Given the description of an element on the screen output the (x, y) to click on. 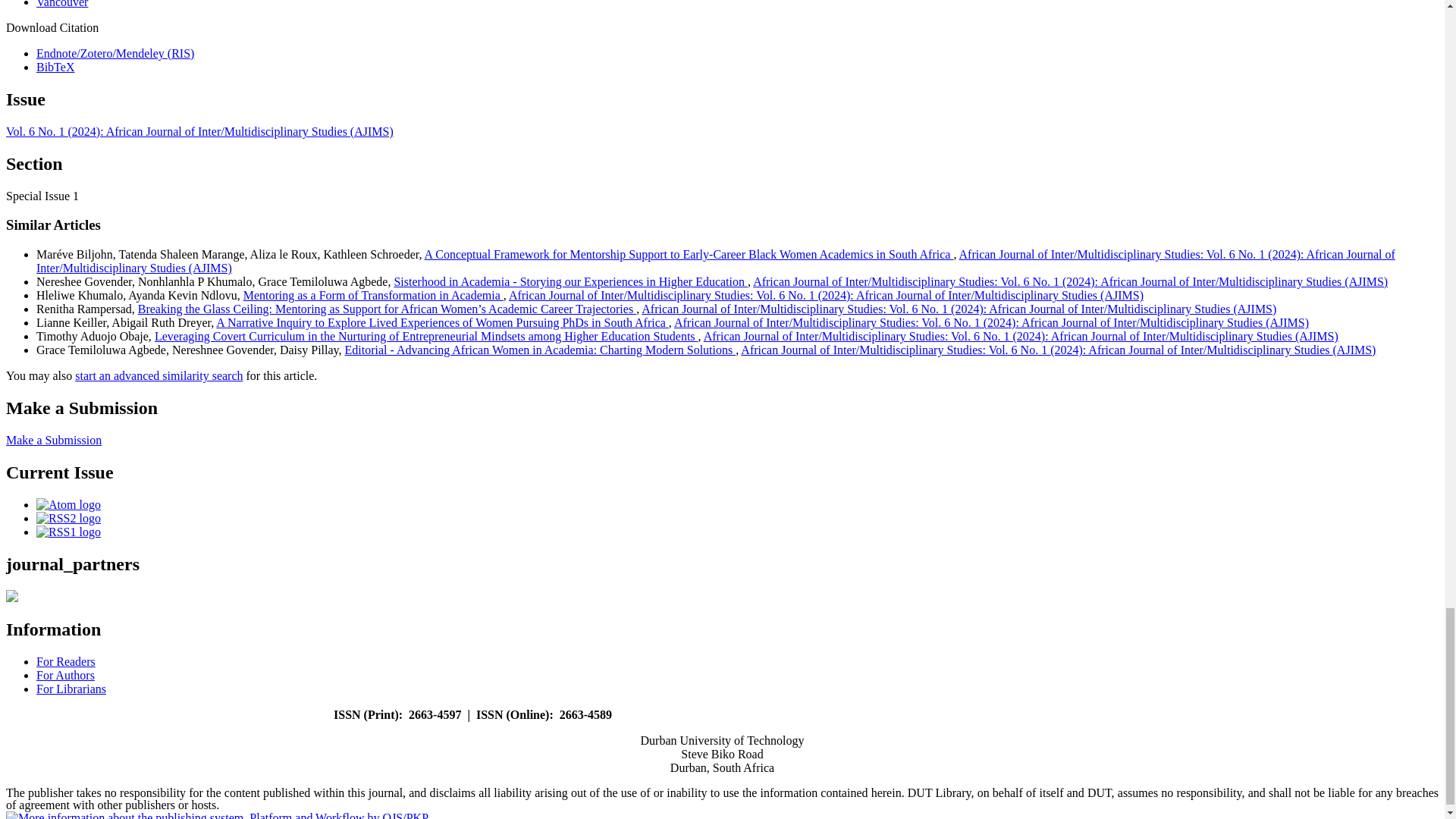
Vancouver (61, 4)
BibTeX (55, 66)
